Given the description of an element on the screen output the (x, y) to click on. 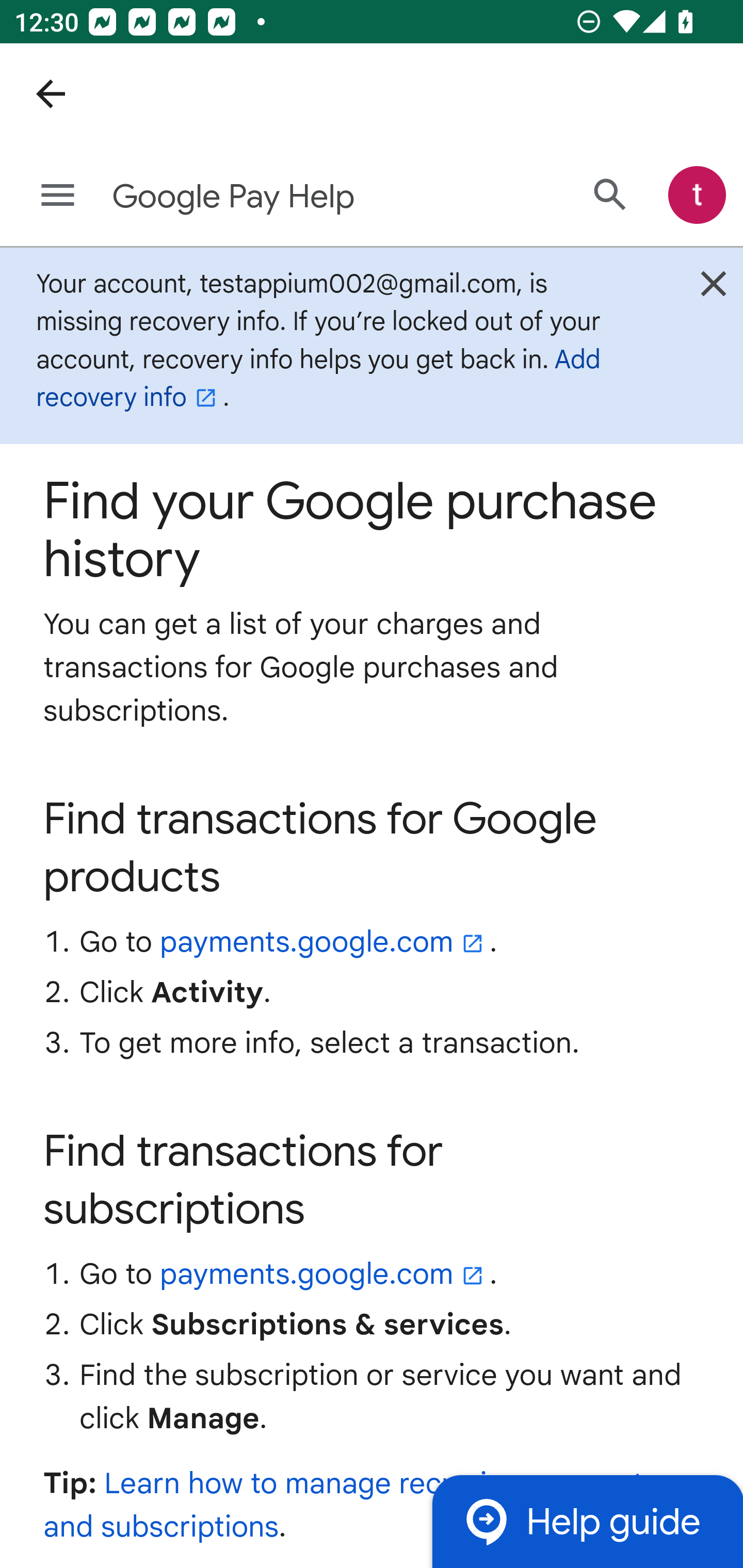
Navigate up (50, 93)
Main menu (58, 195)
Google Pay Help (292, 197)
Search Help Center (610, 195)
Close (713, 287)
Add recovery info (318, 379)
payments.google.com (325, 942)
payments.google.com (325, 1273)
Help guide (587, 1520)
